Given the description of an element on the screen output the (x, y) to click on. 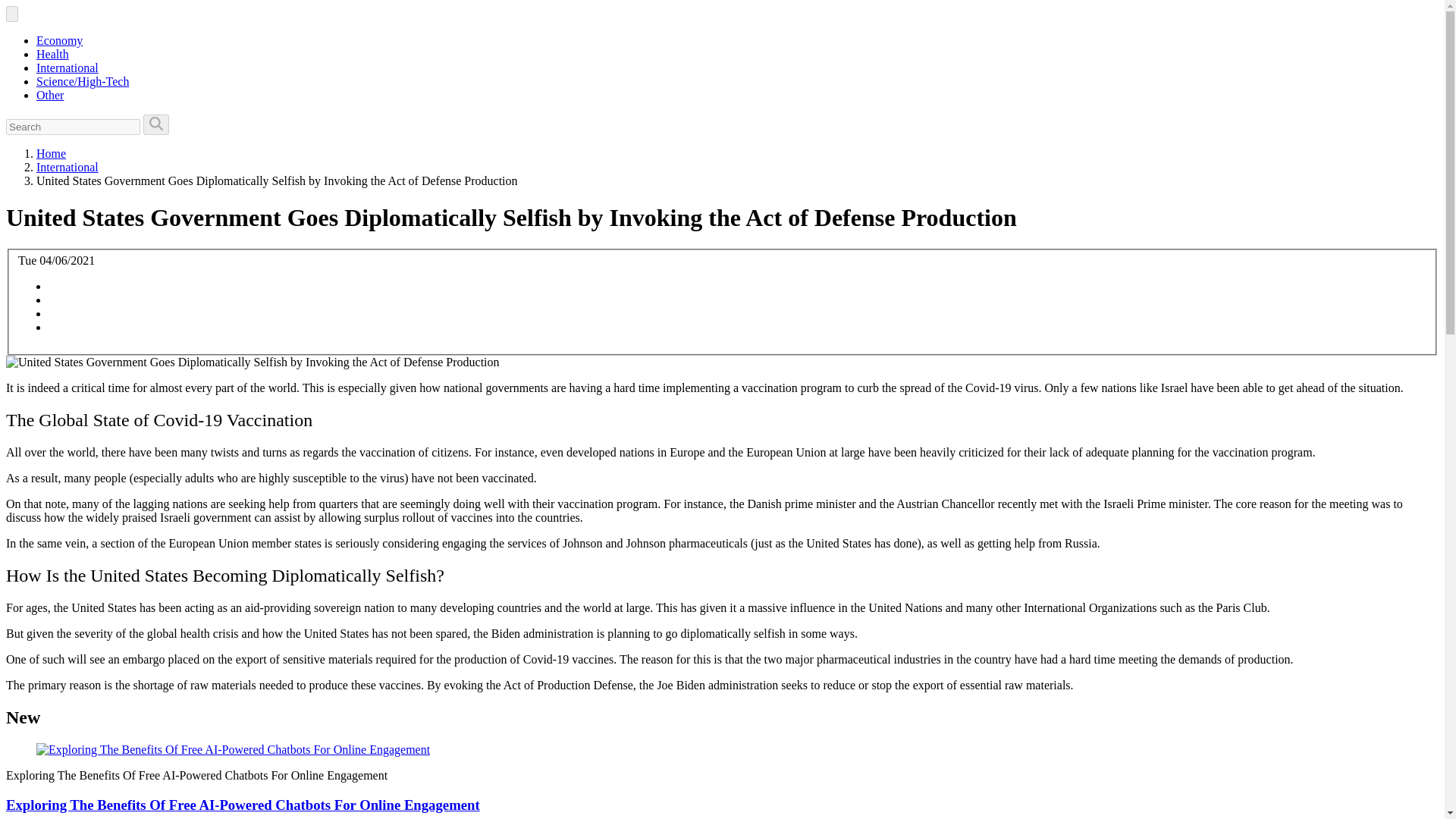
Health (52, 53)
Economy (59, 40)
International (67, 166)
International (67, 67)
International (67, 166)
Home (50, 153)
Other (50, 94)
